Given the description of an element on the screen output the (x, y) to click on. 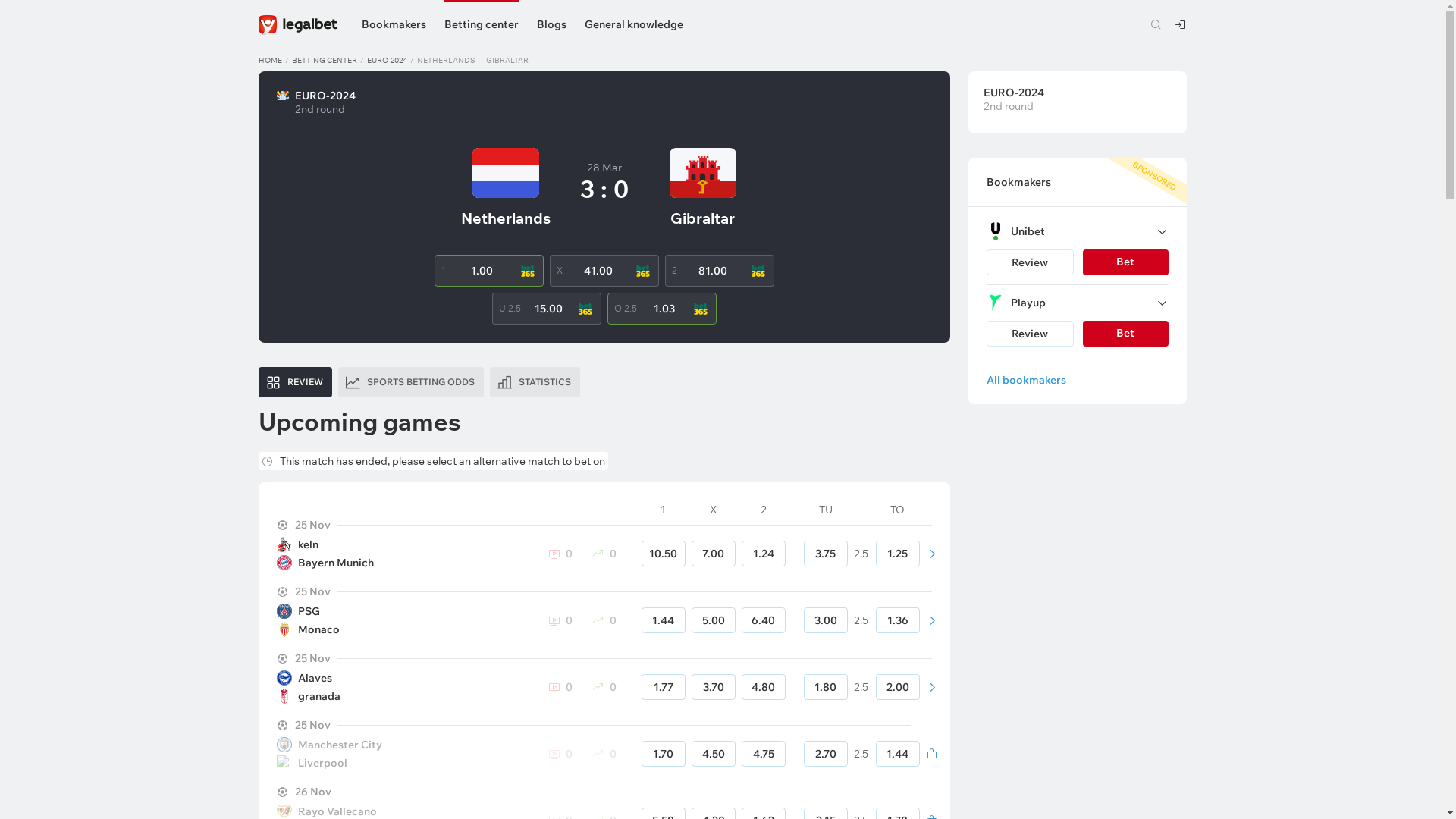
O 2.5
1.03 Element type: text (660, 308)
5.00 Element type: text (713, 620)
Unibet Element type: text (1076, 231)
Betting center Element type: text (481, 25)
Review Element type: text (1029, 333)
1.44 Element type: text (663, 620)
3.00 Element type: text (825, 620)
4.80 Element type: text (763, 686)
0 Element type: text (604, 753)
keln
Bayern Munich Element type: text (403, 553)
All bookmakers Element type: text (1076, 379)
1.24 Element type: text (763, 553)
Blogs Element type: text (551, 25)
EURO-2024 Element type: text (1067, 92)
1
1.00 Element type: text (487, 270)
3.75 Element type: text (825, 553)
4.75 Element type: text (763, 753)
7.00 Element type: text (713, 553)
Bookmakers Element type: text (392, 25)
1.77 Element type: text (663, 686)
General knowledge Element type: text (632, 19)
2.70 Element type: text (825, 753)
Playup Element type: text (1076, 302)
0 Element type: text (560, 620)
Search Element type: text (1155, 24)
4.50 Element type: text (713, 753)
10.50 Element type: text (663, 553)
0 Element type: text (560, 553)
X
41.00 Element type: text (603, 270)
U 2.5
15.00 Element type: text (545, 308)
EURO-2024 Element type: text (387, 60)
EURO-2024 Element type: text (324, 95)
HOME Element type: text (269, 60)
2
81.00 Element type: text (718, 270)
1.25 Element type: text (897, 553)
3.70 Element type: text (713, 686)
1.80 Element type: text (825, 686)
Bet Element type: text (1125, 262)
1.44 Element type: text (897, 753)
BETTING CENTER Element type: text (323, 60)
1.70 Element type: text (663, 753)
0 Element type: text (604, 686)
6.40 Element type: text (763, 620)
0 Element type: text (604, 553)
PSG
Monaco Element type: text (403, 620)
0 Element type: text (560, 753)
Manchester City
Liverpool Element type: text (403, 753)
0 Element type: text (604, 620)
0 Element type: text (560, 686)
Alaves
granada Element type: text (403, 686)
2.00 Element type: text (897, 686)
Review Element type: text (1029, 262)
Bet Element type: text (1125, 333)
1.36 Element type: text (897, 620)
